Given the description of an element on the screen output the (x, y) to click on. 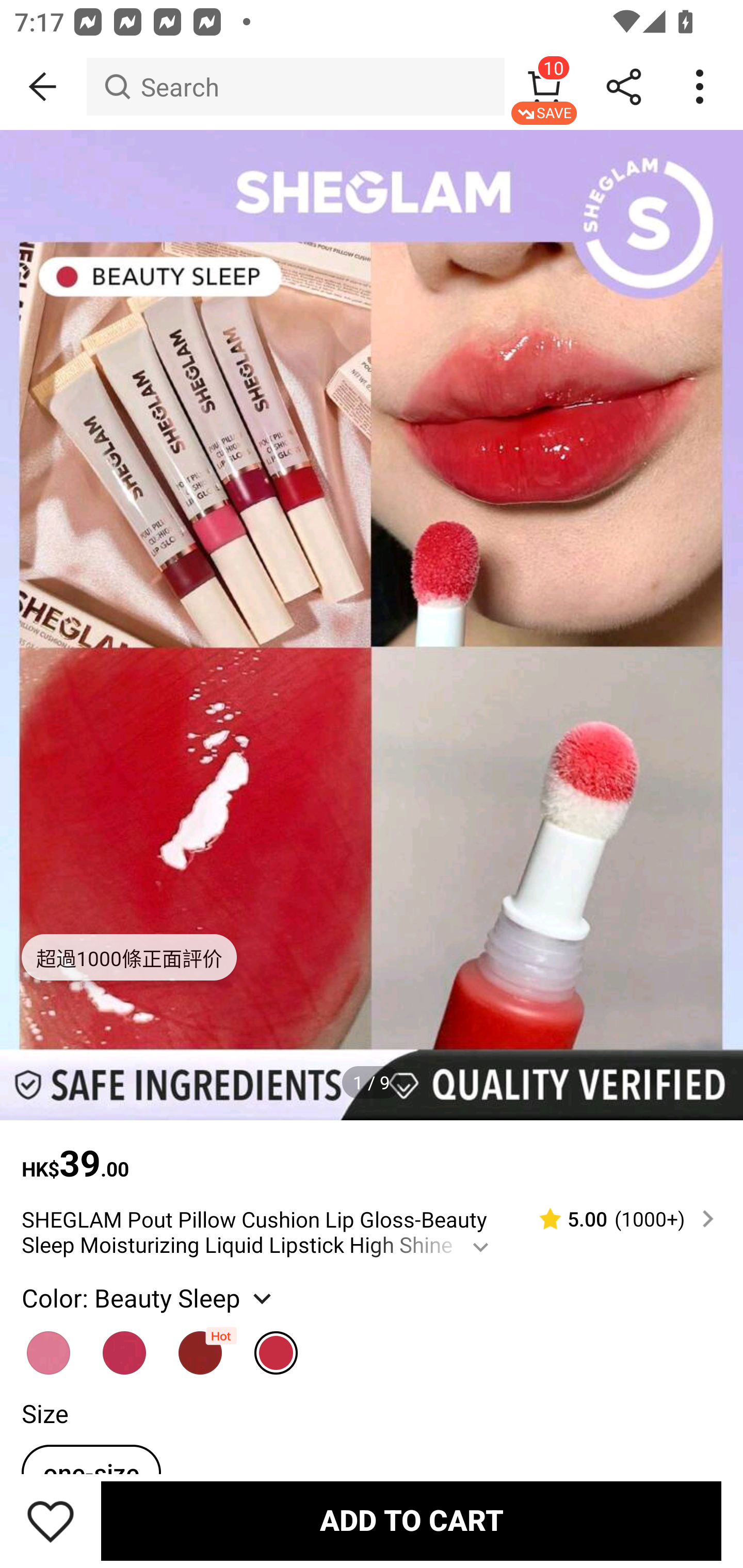
BACK (43, 86)
10 SAVE (543, 87)
Search (295, 87)
1 / 9 (371, 1082)
HK$39.00 (371, 1152)
5.00 (1000‎+) (617, 1219)
Color: Beauty Sleep (148, 1297)
Sweet Dreamz (48, 1344)
K.O. (124, 1344)
Cat Nap (200, 1344)
Beauty Sleep (276, 1344)
Size (44, 1412)
ADD TO CART (411, 1520)
Save (50, 1520)
